Given the description of an element on the screen output the (x, y) to click on. 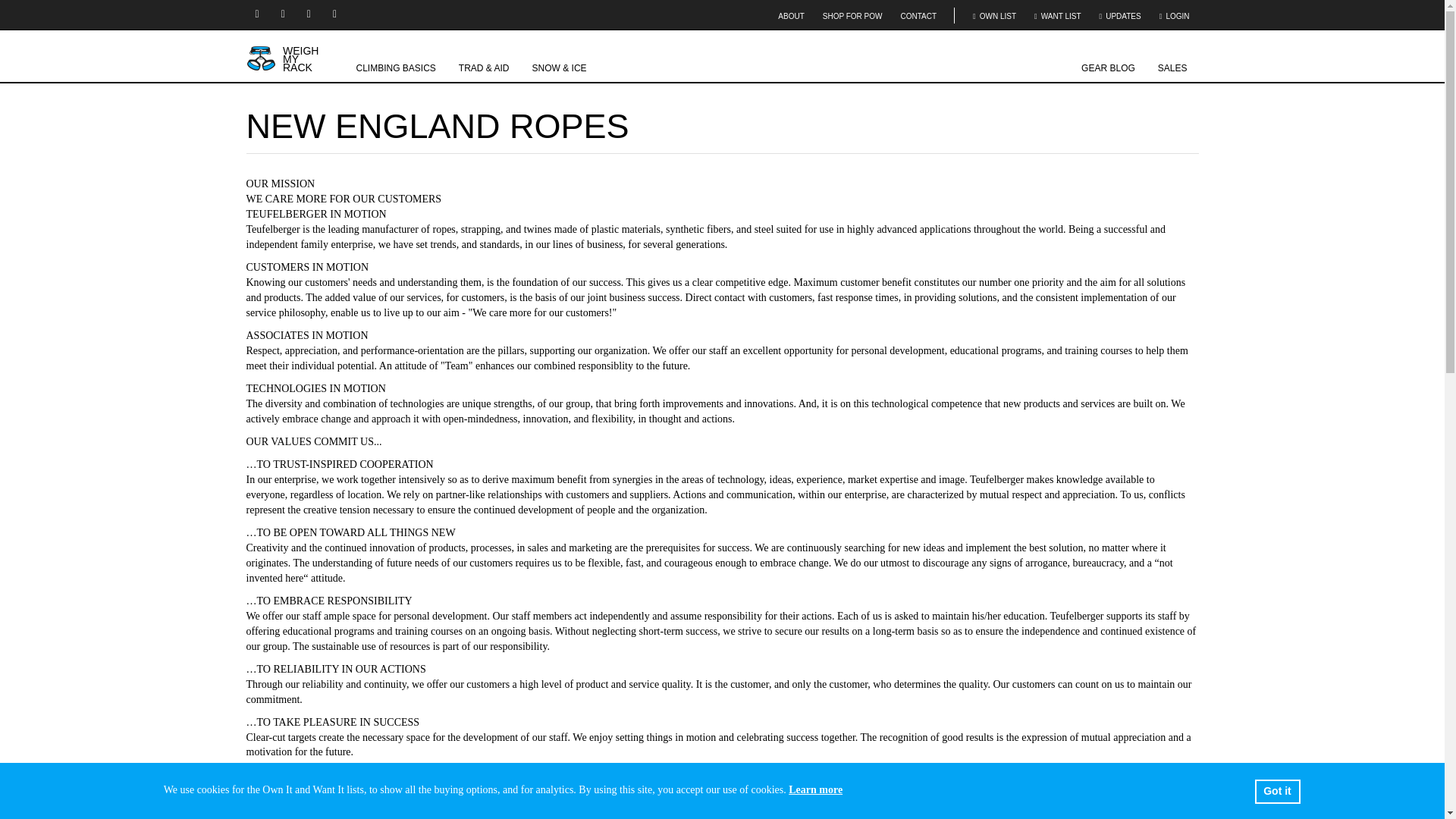
WeighMyRack YouTube Channel (285, 14)
Sign up for gear updates (1120, 16)
Gear on your Own It List (994, 16)
WeighMyRack Pinterest (336, 14)
Gear on your Want It List (1057, 16)
WeighMyRack Facebook (310, 14)
WeighMyRack Instagram (258, 14)
Leave a message (1331, 794)
